Given the description of an element on the screen output the (x, y) to click on. 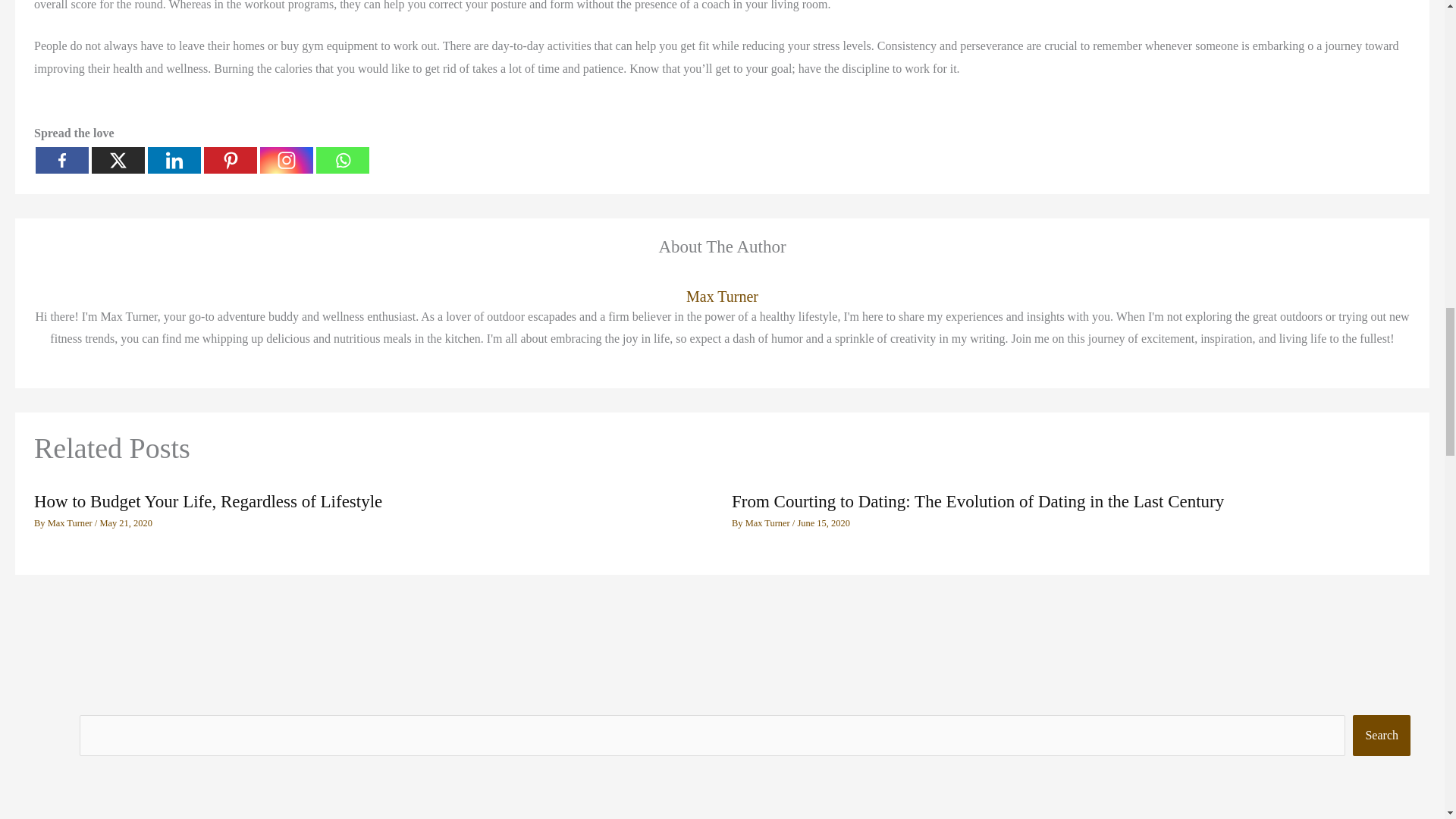
Max Turner (768, 522)
Instagram (286, 160)
Search (1381, 734)
Linkedin (174, 160)
X (117, 160)
Max Turner (71, 522)
Facebook (61, 160)
Pinterest (230, 160)
Max Turner (721, 296)
How to Budget Your Life, Regardless of Lifestyle (207, 501)
